Given the description of an element on the screen output the (x, y) to click on. 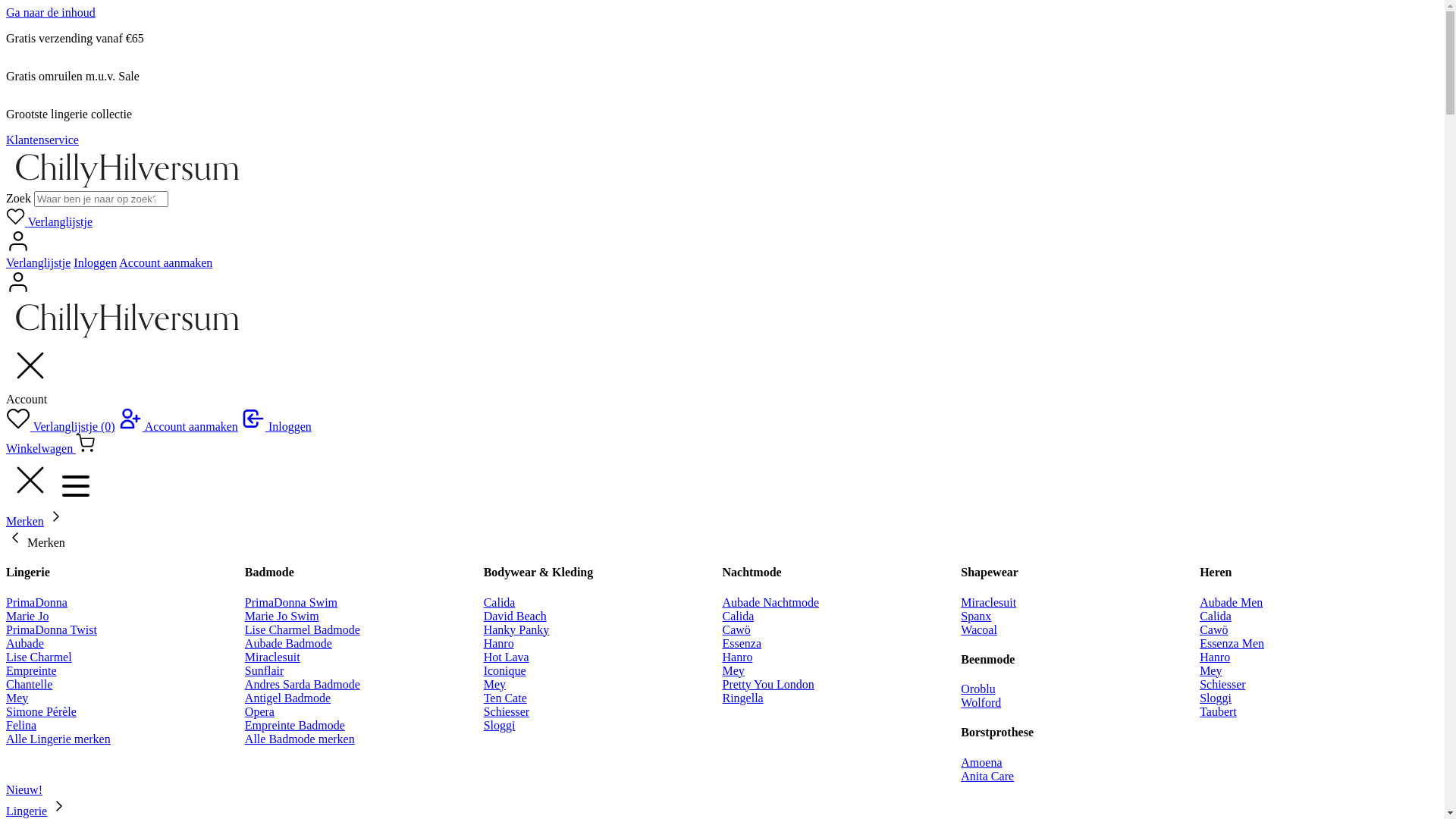
Marie Jo Element type: text (27, 615)
Miraclesuit Element type: text (272, 656)
Aubade Men Element type: text (1230, 602)
Oroblu Element type: text (977, 688)
Calida Element type: text (1215, 615)
Anita Care Element type: text (986, 775)
Inloggen Element type: text (276, 426)
Mey Element type: text (17, 697)
Calida Element type: text (737, 615)
Account aanmaken Element type: text (178, 426)
Ringella Element type: text (741, 697)
Mey Element type: text (494, 683)
Lingerie Element type: text (26, 810)
Opera Element type: text (259, 711)
Felina Element type: text (21, 724)
Hanro Element type: text (736, 656)
Hanro Element type: text (1214, 656)
Merken Element type: text (35, 542)
Verlanglijstje Element type: text (49, 221)
PrimaDonna Twist Element type: text (51, 629)
Winkelwagen Element type: text (50, 448)
Sloggi Element type: text (1215, 697)
Lise Charmel Badmode Element type: text (302, 629)
Aubade Badmode Element type: text (288, 643)
Calida Element type: text (499, 602)
Amoena Element type: text (980, 762)
Andres Sarda Badmode Element type: text (302, 683)
Inloggen Element type: text (94, 262)
Essenza Men Element type: text (1231, 643)
Hot Lava Element type: text (506, 656)
Aubade Nachtmode Element type: text (770, 602)
Sunflair Element type: text (264, 670)
Verlanglijstje Element type: text (38, 262)
Klantenservice Element type: text (42, 139)
Schiesser Element type: text (506, 711)
Essenza Element type: text (741, 643)
Ga naar de inhoud Element type: text (50, 12)
Wacoal Element type: text (978, 629)
Empreinte Badmode Element type: text (294, 724)
Mey Element type: text (1210, 670)
Schiesser Element type: text (1222, 683)
Aubade Element type: text (24, 643)
Nieuw! Element type: text (24, 789)
Miraclesuit Element type: text (988, 602)
Lise Charmel Element type: text (39, 656)
Sloggi Element type: text (499, 724)
Merken Element type: text (24, 520)
Iconique Element type: text (504, 670)
Taubert Element type: text (1217, 711)
Account aanmaken Element type: text (165, 262)
Chantelle Element type: text (29, 683)
Empreinte Element type: text (31, 670)
Spanx Element type: text (975, 615)
Verlanglijstje (0) Element type: text (60, 426)
Hanky Panky Element type: text (516, 629)
PrimaDonna Element type: text (36, 602)
Antigel Badmode Element type: text (287, 697)
David Beach Element type: text (514, 615)
Hanro Element type: text (498, 643)
Alle Badmode merken Element type: text (299, 738)
Ten Cate Element type: text (505, 697)
Pretty You London Element type: text (767, 683)
Alle Lingerie merken Element type: text (58, 738)
PrimaDonna Swim Element type: text (290, 602)
Wolford Element type: text (980, 702)
Marie Jo Swim Element type: text (281, 615)
Mey Element type: text (732, 670)
